Given the description of an element on the screen output the (x, y) to click on. 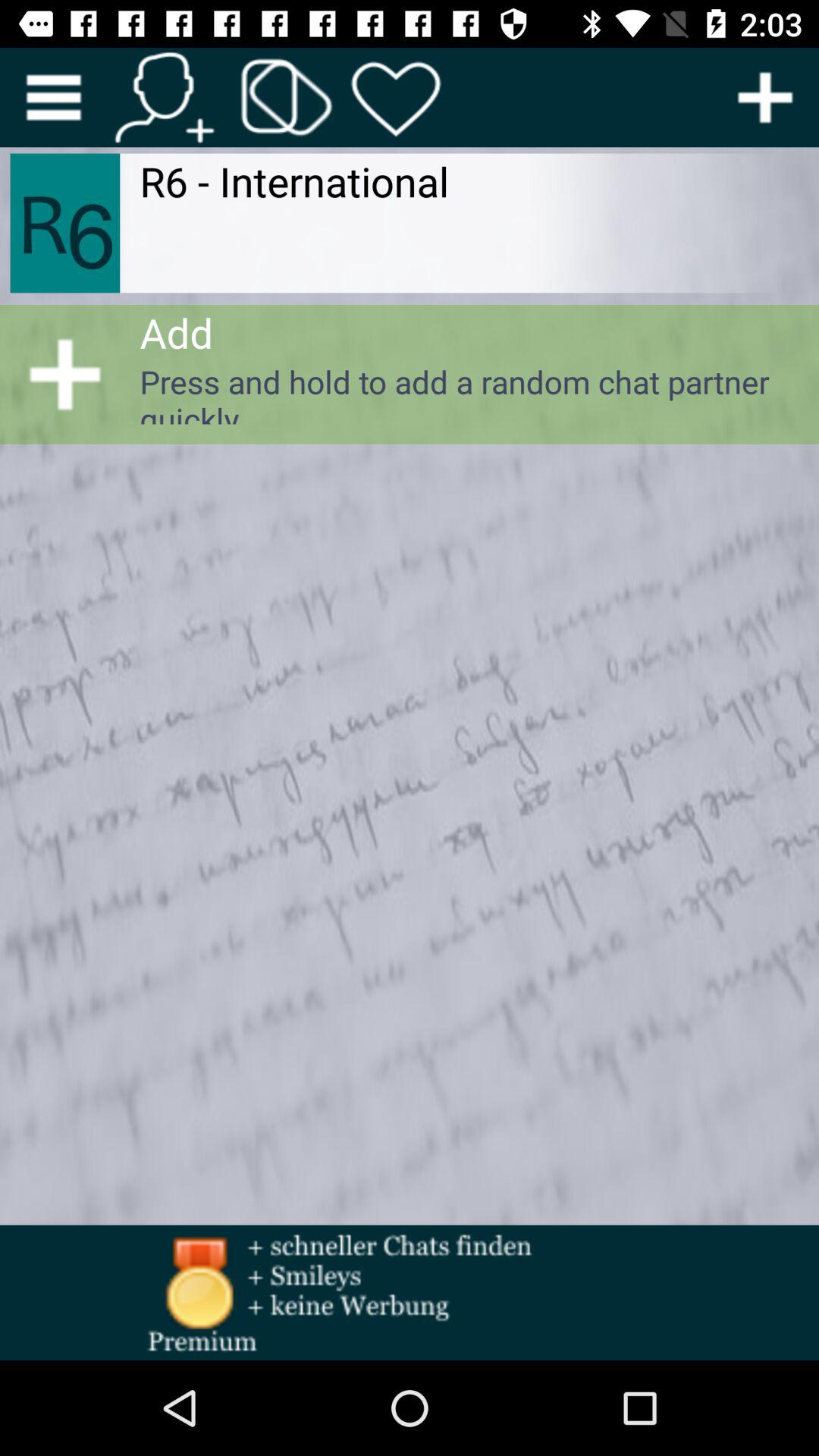
add contacts (164, 97)
